Given the description of an element on the screen output the (x, y) to click on. 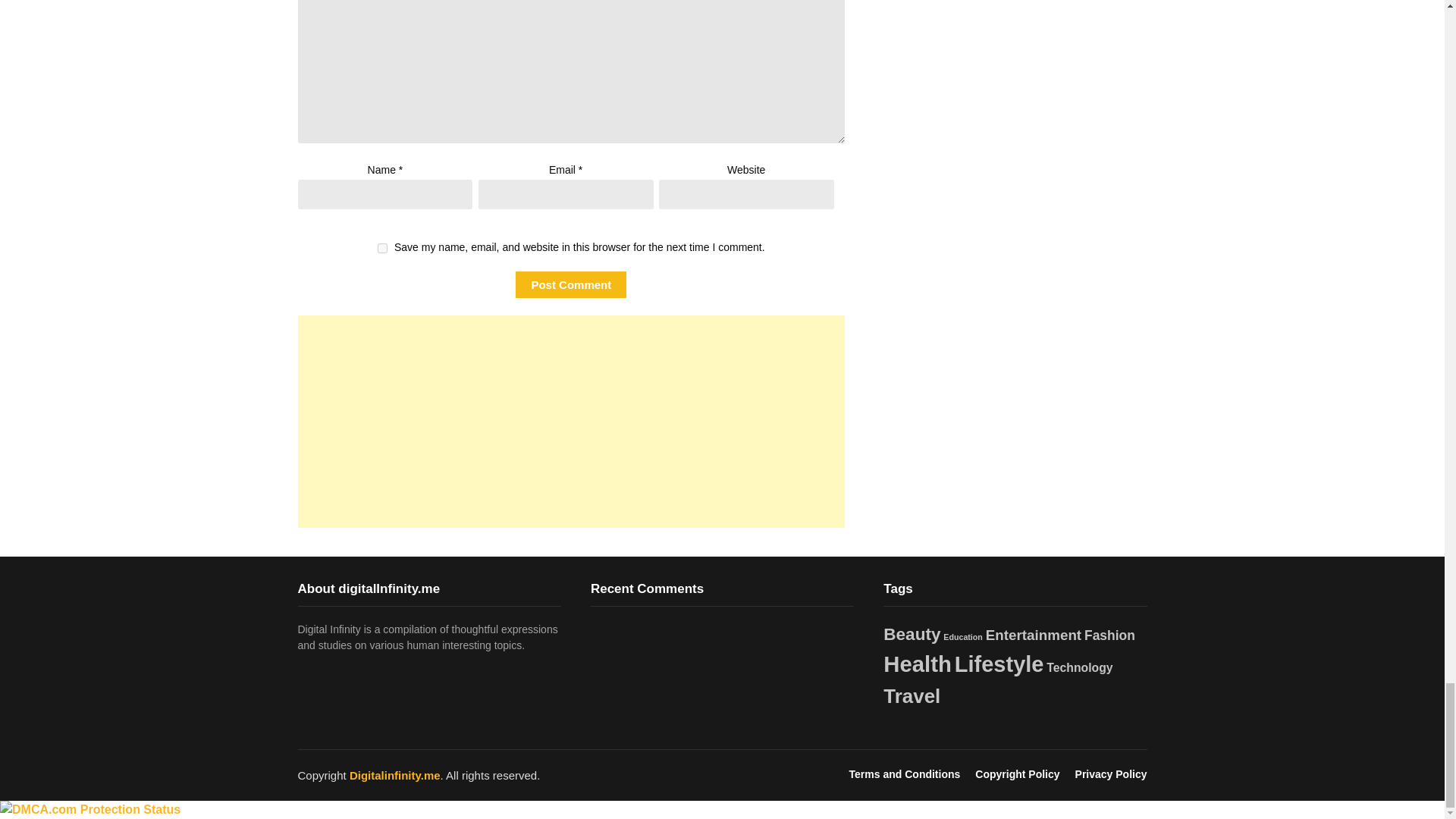
yes (382, 248)
DMCA.com Protection Status (90, 809)
Post Comment (570, 284)
Post Comment (570, 284)
